Given the description of an element on the screen output the (x, y) to click on. 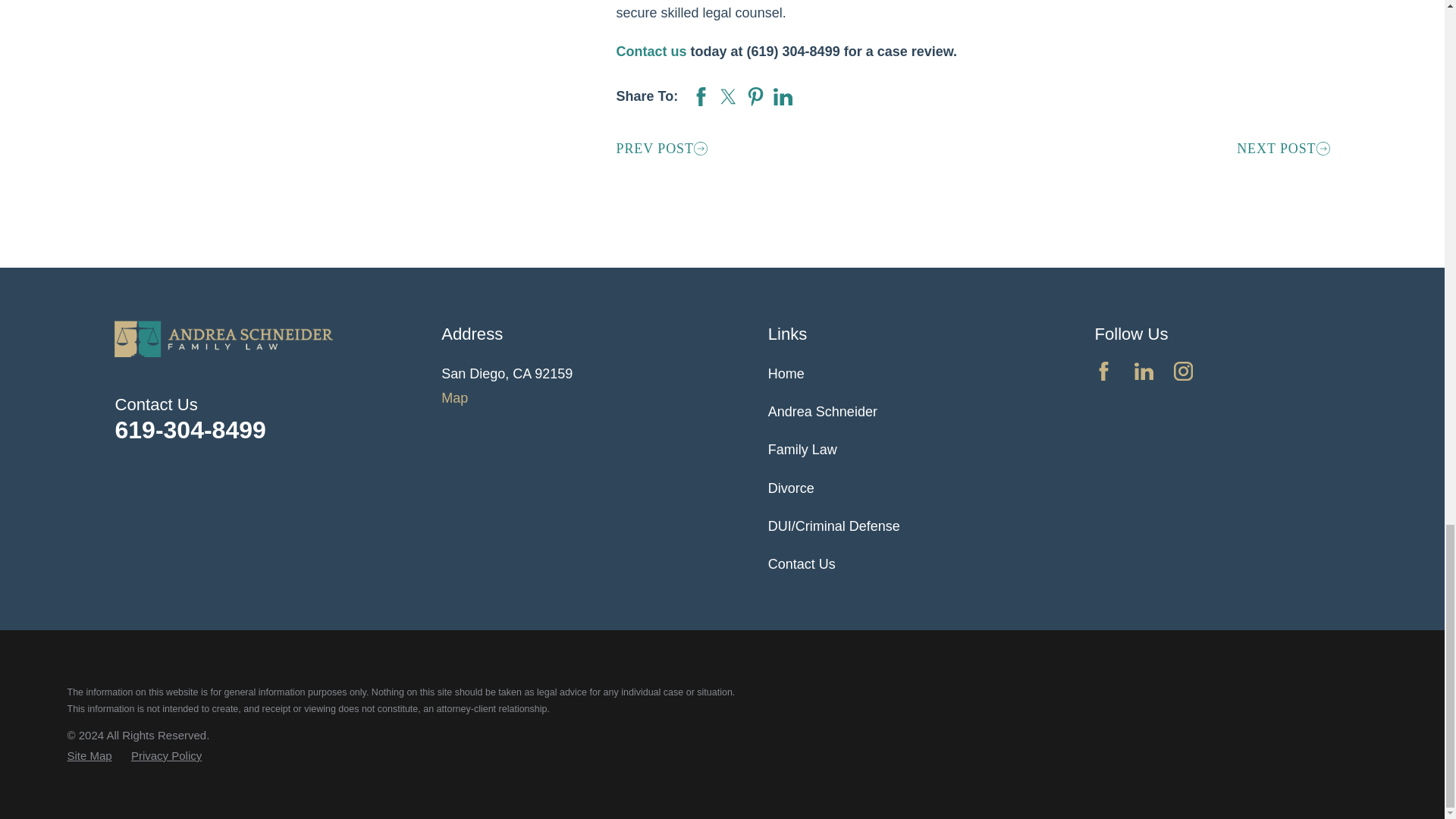
LinkedIn (1143, 370)
Instagram (1182, 370)
Home (224, 338)
Facebook (1103, 370)
